Given the description of an element on the screen output the (x, y) to click on. 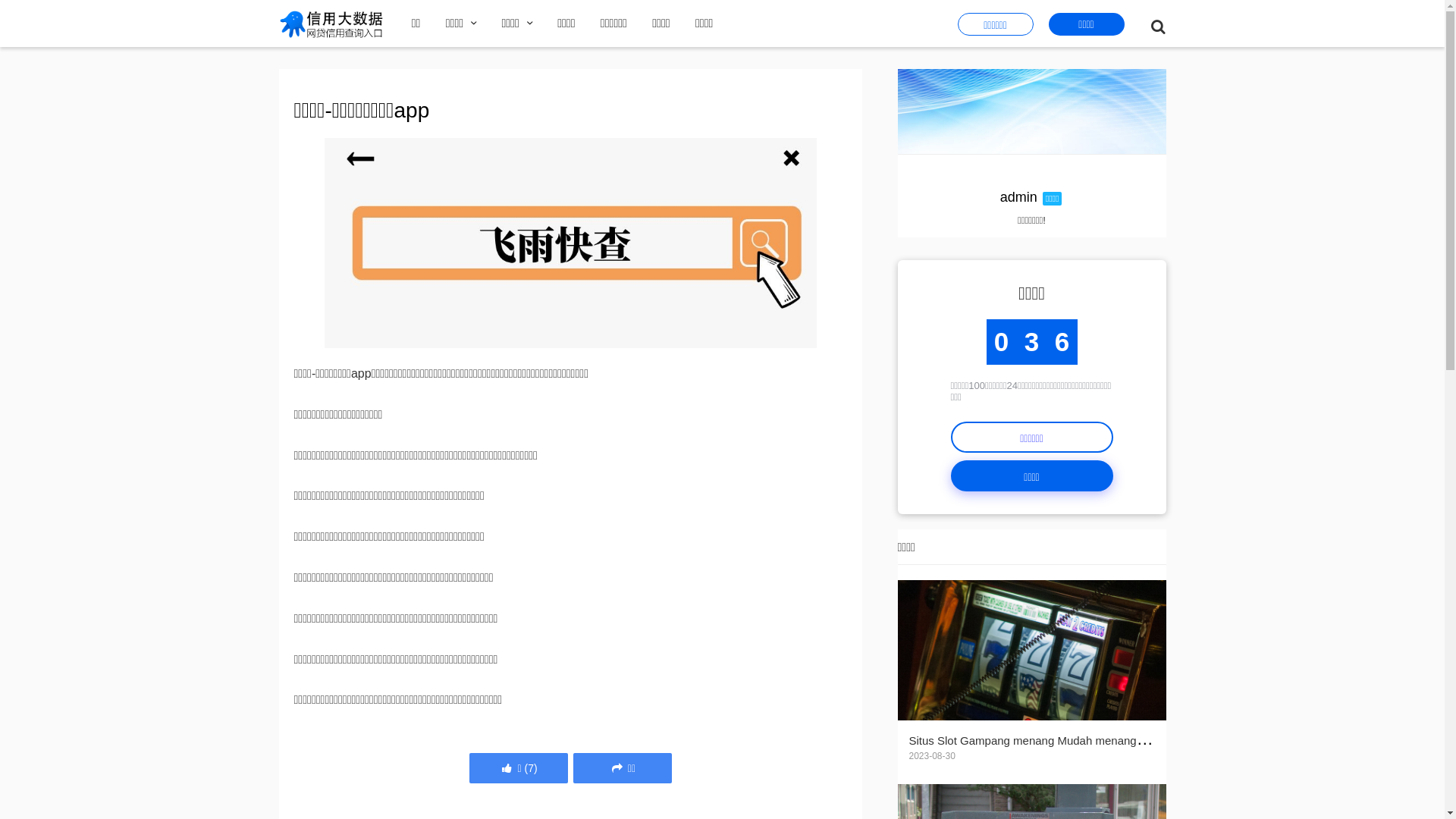
0 Element type: text (1031, 153)
admin Element type: text (1018, 196)
